Given the description of an element on the screen output the (x, y) to click on. 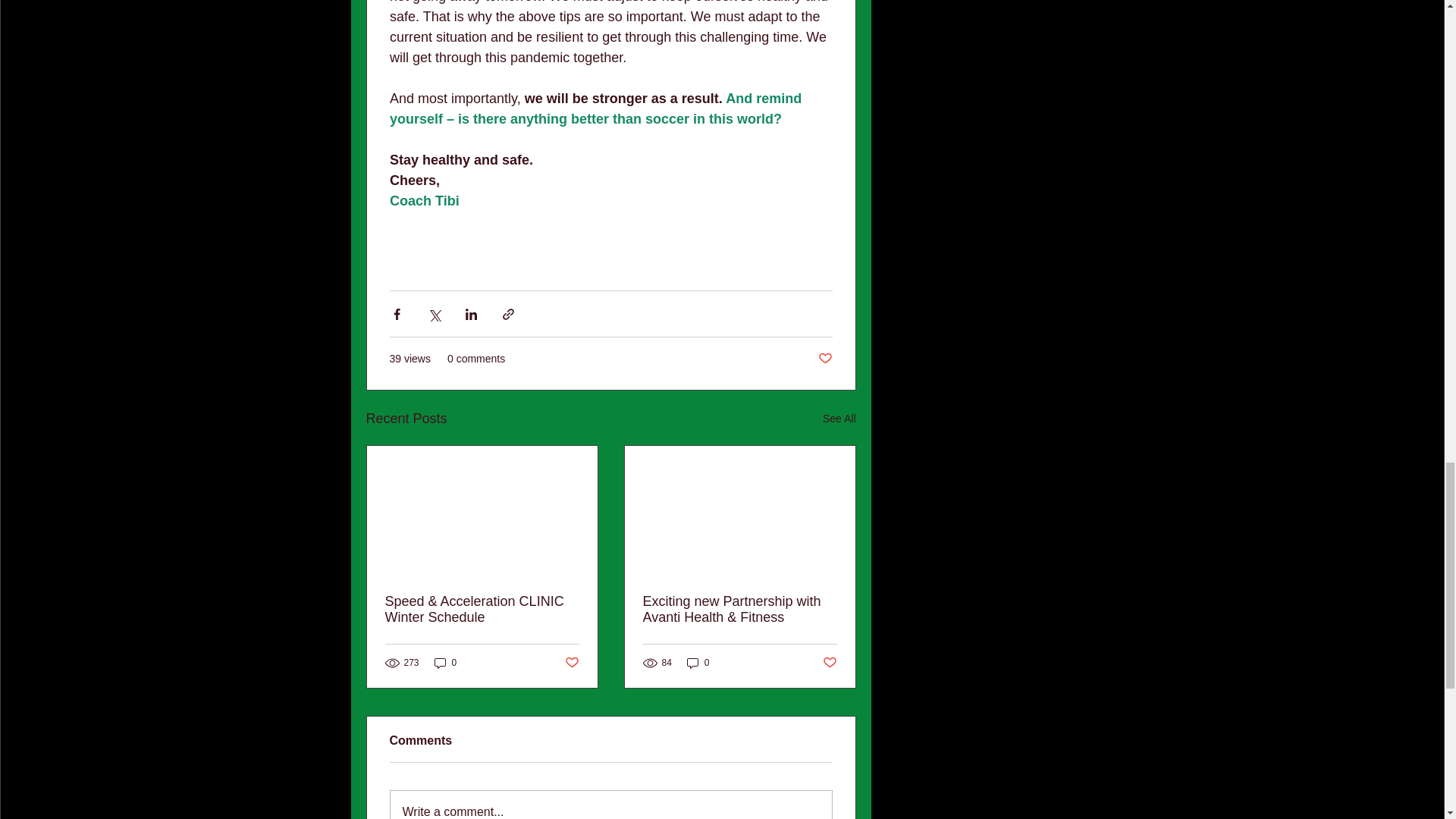
See All (839, 418)
0 (445, 662)
Post not marked as liked (823, 358)
